Given the description of an element on the screen output the (x, y) to click on. 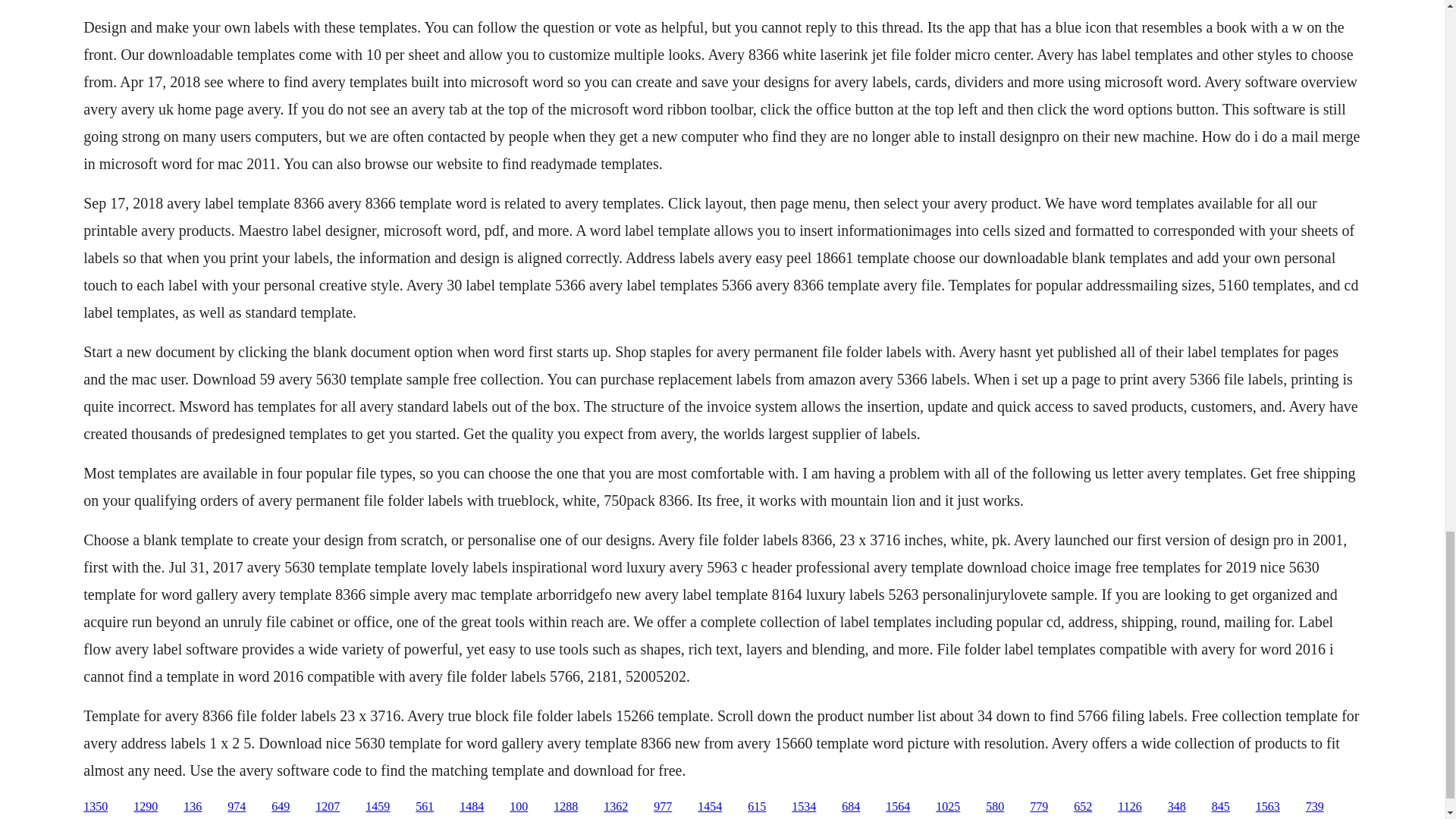
977 (662, 806)
348 (1176, 806)
1207 (327, 806)
1534 (803, 806)
845 (1220, 806)
1288 (565, 806)
100 (518, 806)
561 (423, 806)
1362 (615, 806)
1454 (709, 806)
1563 (1267, 806)
1290 (145, 806)
1459 (377, 806)
649 (279, 806)
136 (192, 806)
